Given the description of an element on the screen output the (x, y) to click on. 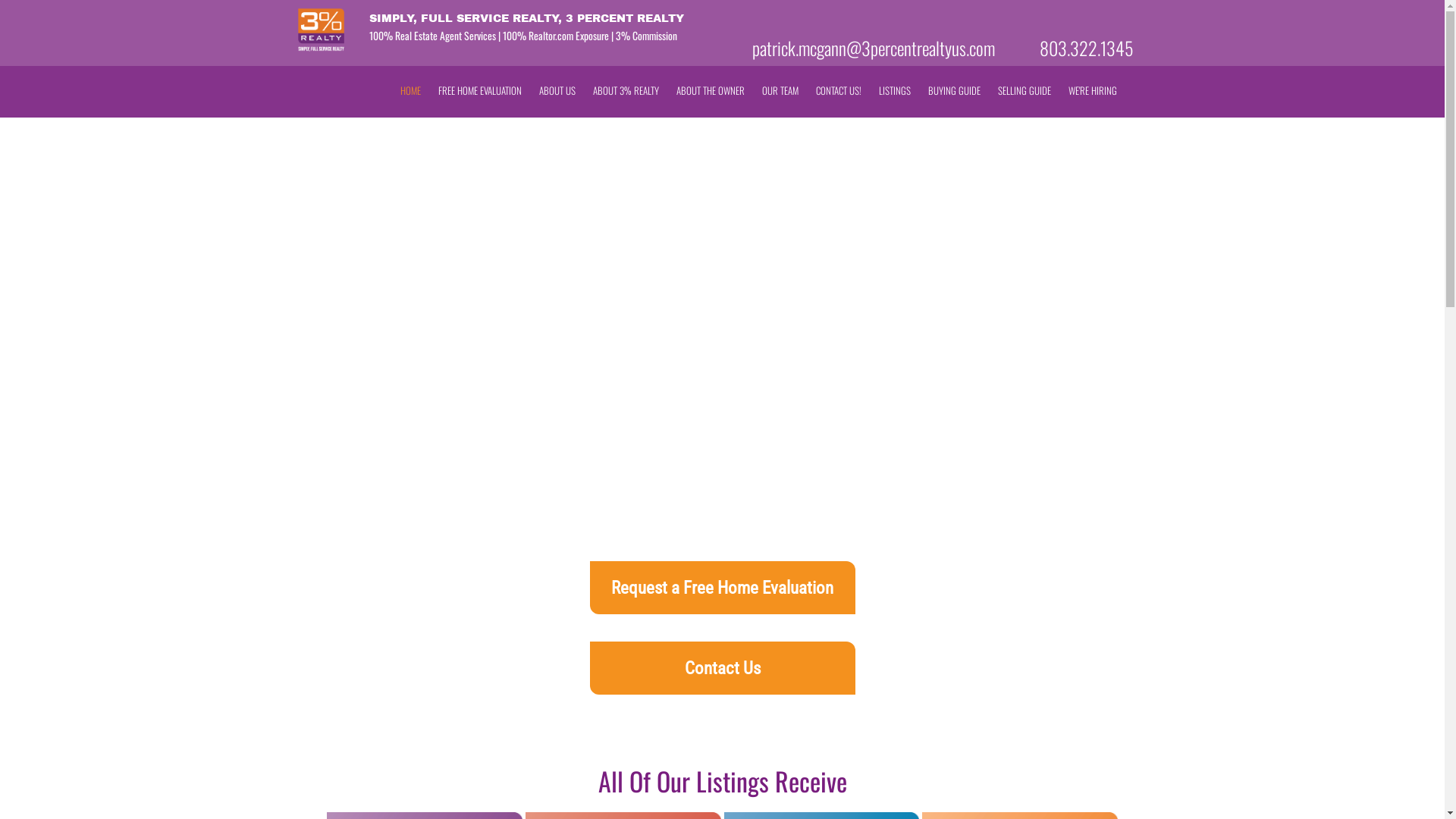
WE'RE HIRING Element type: text (1091, 90)
803.322.1345 Element type: text (1085, 47)
ABOUT US Element type: text (556, 90)
FREE HOME EVALUATION Element type: text (479, 90)
SELLING GUIDE Element type: text (1024, 90)
CONTACT US! Element type: text (838, 90)
Request a Free Home Evaluation Element type: text (722, 587)
Contact Us Element type: text (722, 667)
ABOUT 3% REALTY Element type: text (625, 90)
BUYING GUIDE Element type: text (954, 90)
patrick.mcgann@3percentrealtyus.com Element type: text (873, 47)
OUR TEAM Element type: text (779, 90)
LISTINGS Element type: text (893, 90)
ABOUT THE OWNER Element type: text (710, 90)
HOME Element type: text (410, 90)
